Given the description of an element on the screen output the (x, y) to click on. 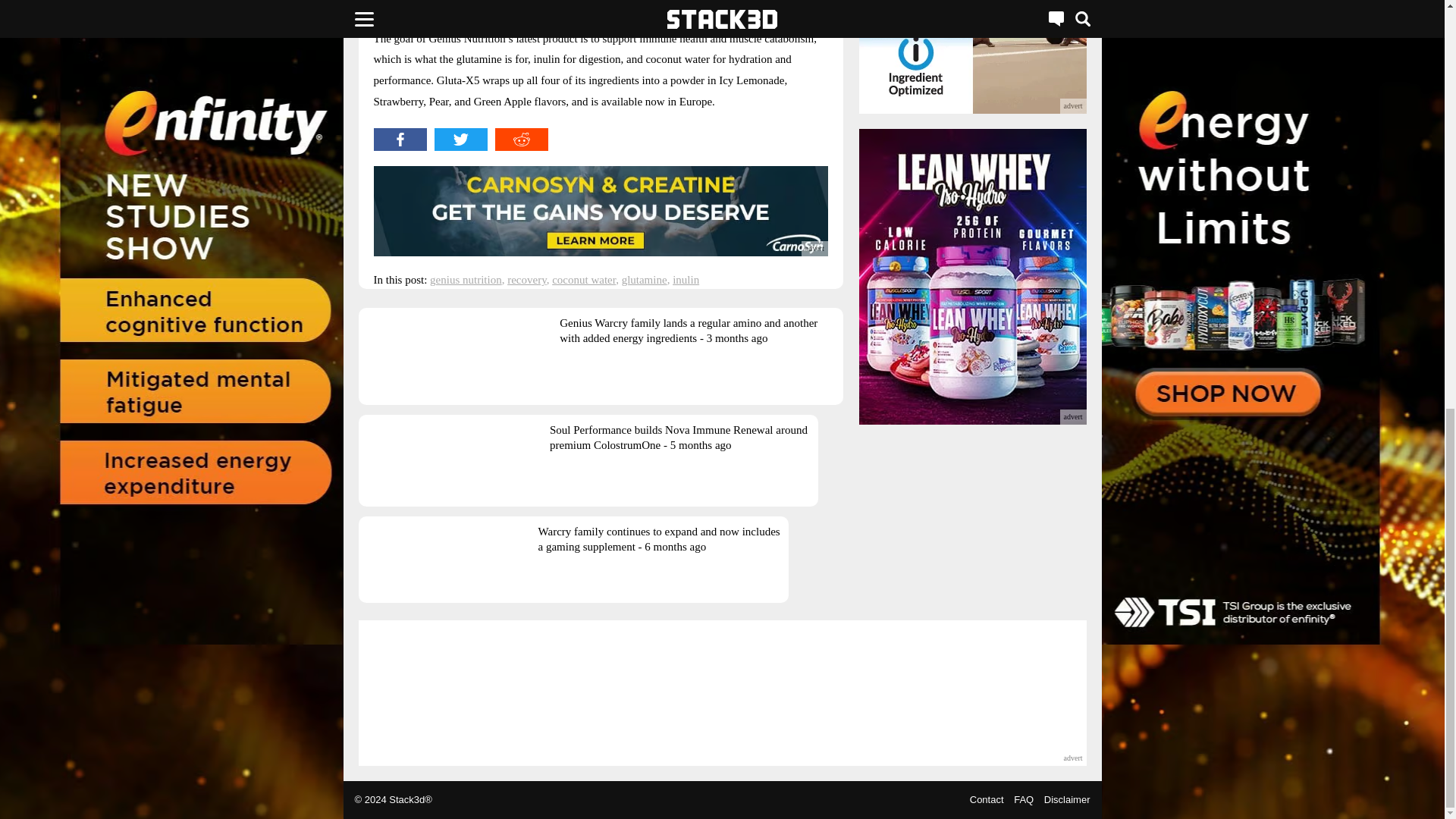
genius nutrition (465, 279)
coconut water (583, 279)
recovery (526, 279)
